Given the description of an element on the screen output the (x, y) to click on. 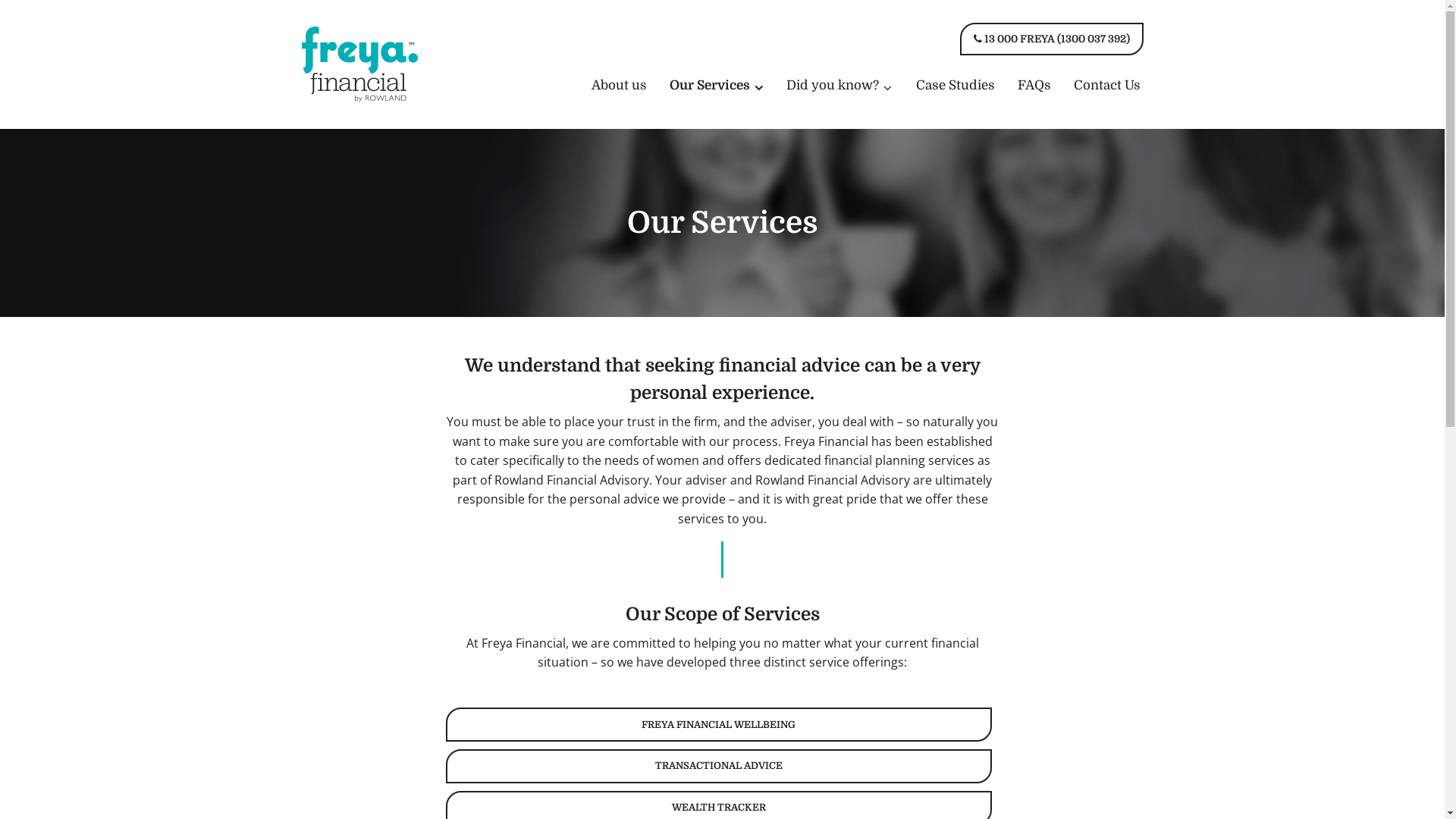
FREYA FINANCIAL WELLBEING Element type: text (718, 724)
Did you know? Element type: text (840, 86)
About us Element type: text (619, 86)
Case Studies Element type: text (955, 86)
Our Services Element type: text (716, 86)
FAQs Element type: text (1034, 86)
13 000 FREYA (1300 037 392) Element type: text (1051, 38)
Contact Us Element type: text (1106, 86)
TRANSACTIONAL ADVICE Element type: text (718, 766)
